Given the description of an element on the screen output the (x, y) to click on. 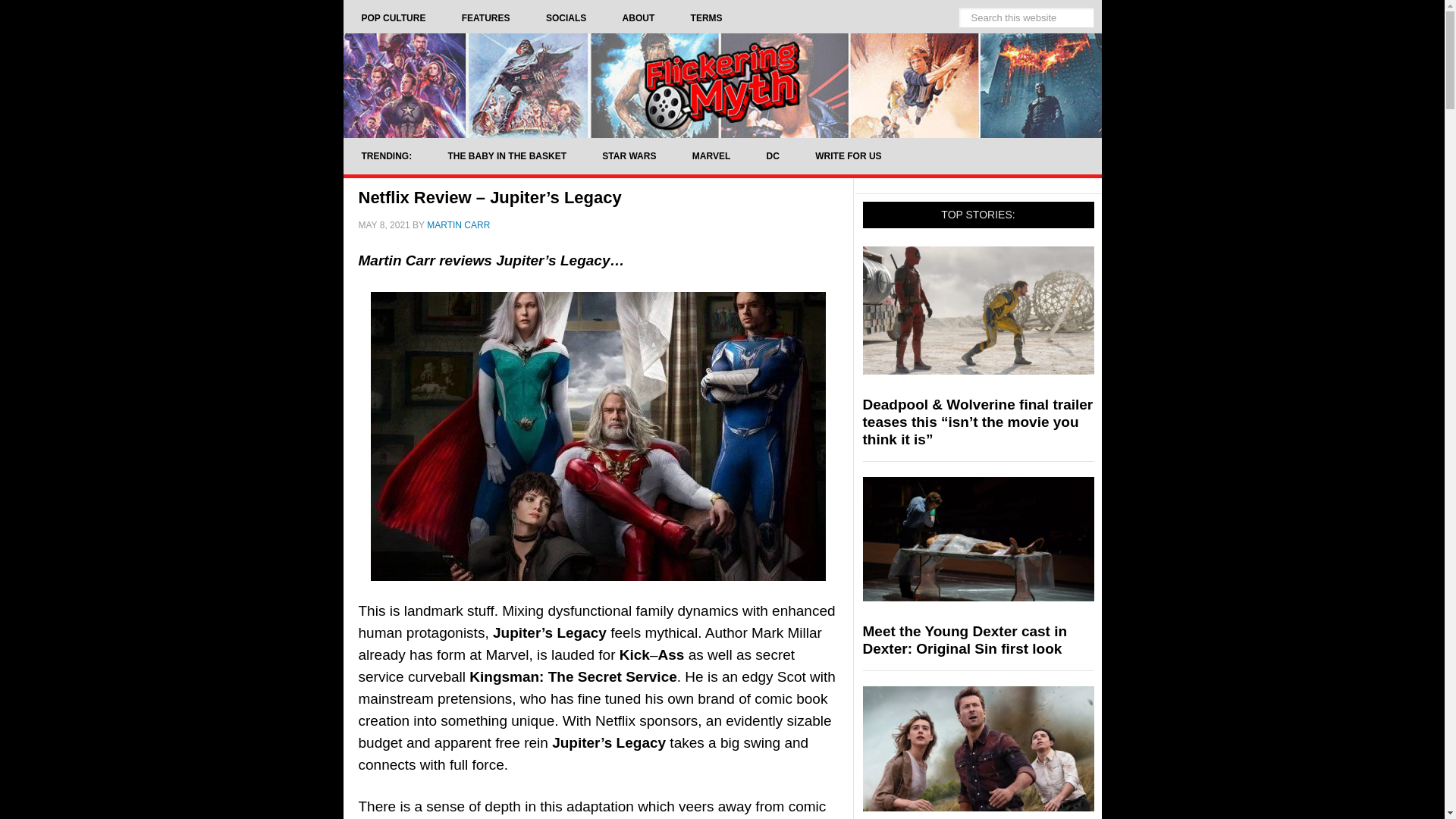
STAR WARS (628, 156)
Pop Culture (393, 18)
MARVEL (711, 156)
TERMS (706, 18)
THE BABY IN THE BASKET (507, 156)
FEATURES (486, 18)
WRITE FOR US (847, 156)
FLICKERING MYTH (721, 85)
DC (772, 156)
POP CULTURE (393, 18)
About Flickering Myth (638, 18)
MARTIN CARR (457, 225)
Features (486, 18)
